Given the description of an element on the screen output the (x, y) to click on. 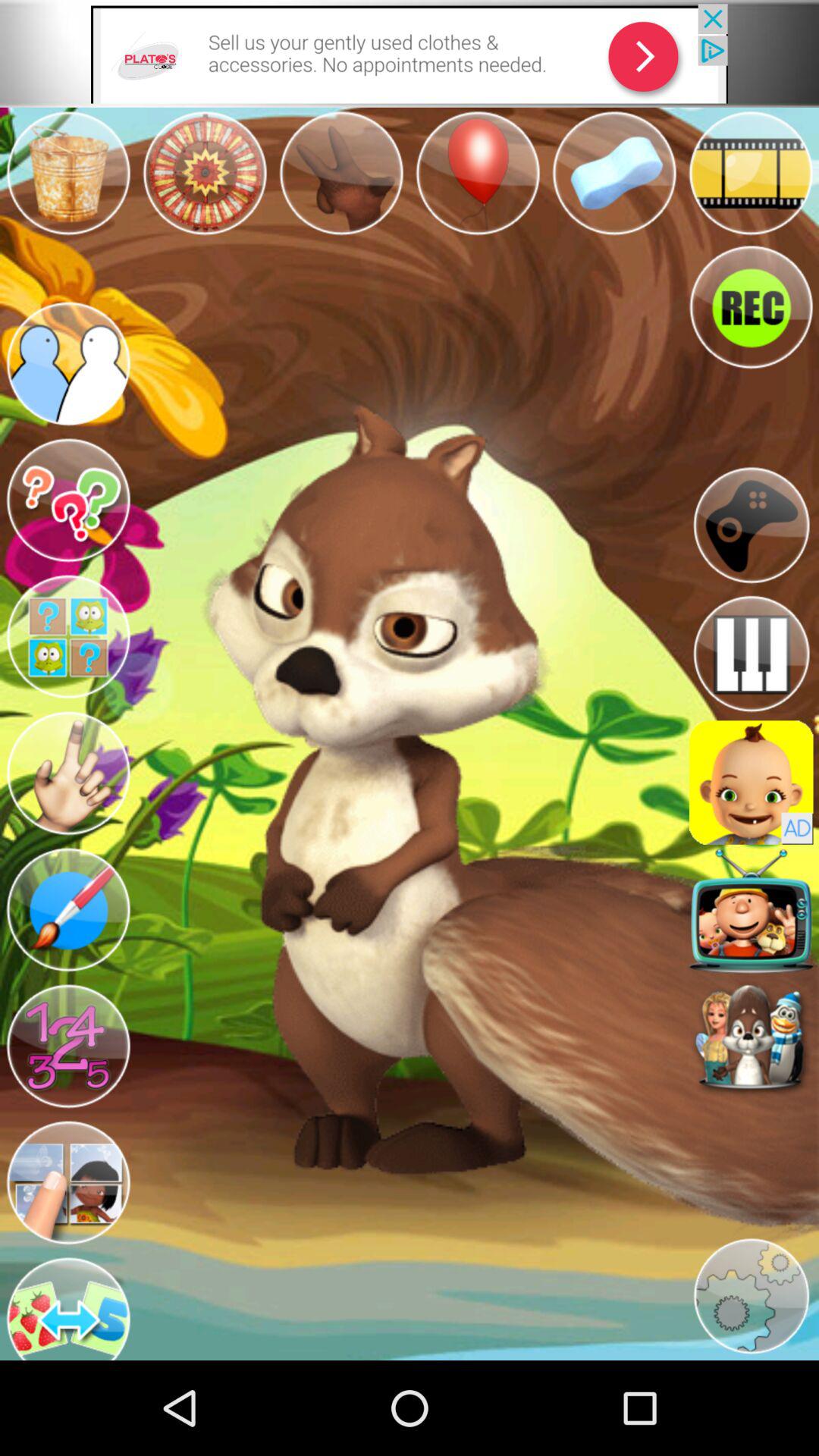
app icon (751, 782)
